Given the description of an element on the screen output the (x, y) to click on. 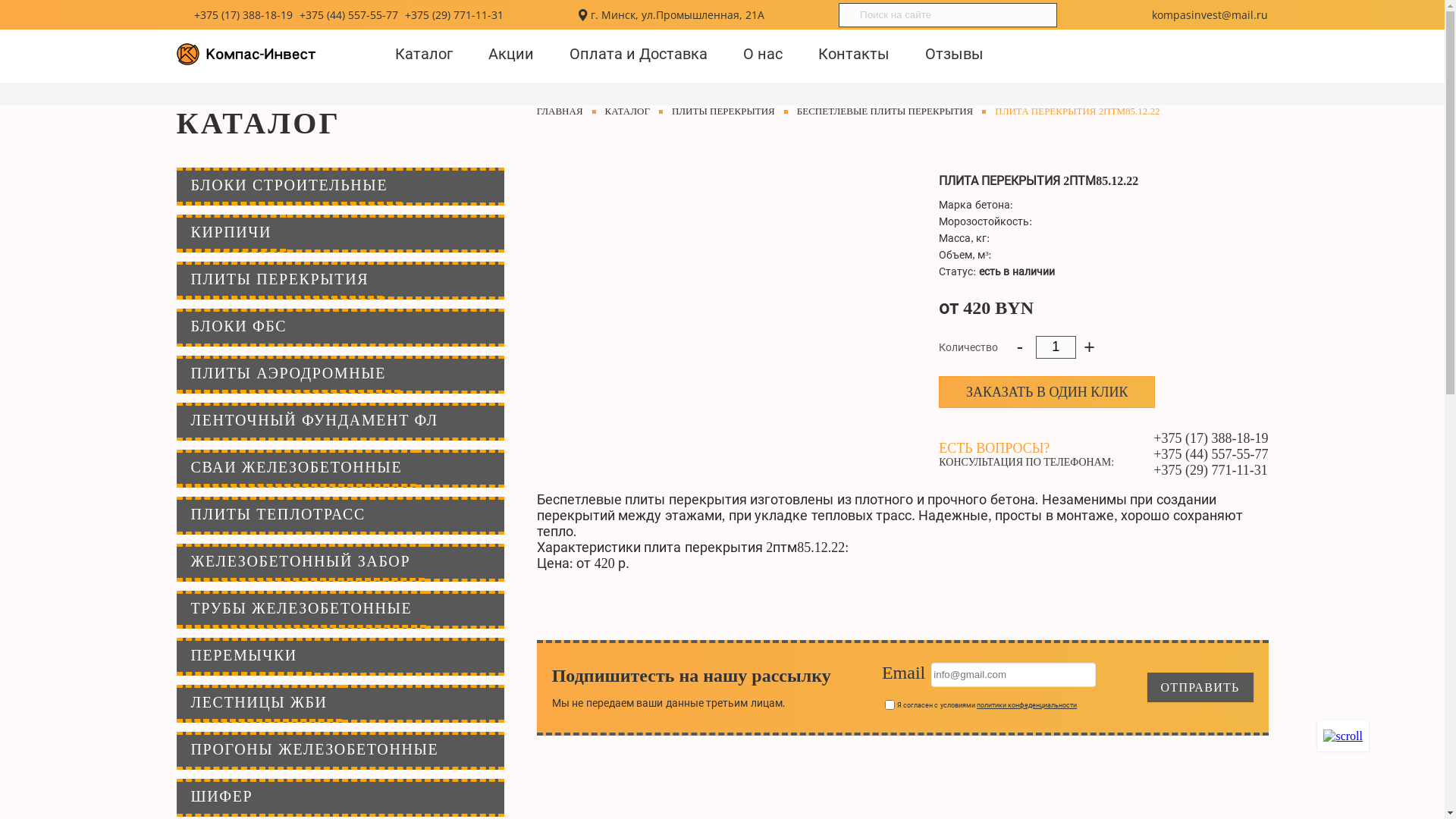
+375 (44) 557-55-77 Element type: text (348, 14)
+375 (17) 388-18-19 Element type: text (243, 14)
+ Element type: text (1089, 346)
+375 (29) 771-11-31 Element type: text (453, 14)
+375 (44) 557-55-77 Element type: text (1210, 453)
kompasinvest@mail.ru Element type: text (1209, 14)
- Element type: text (1019, 346)
+375 (29) 771-11-31 Element type: text (1210, 469)
+375 (17) 388-18-19 Element type: text (1210, 437)
